Given the description of an element on the screen output the (x, y) to click on. 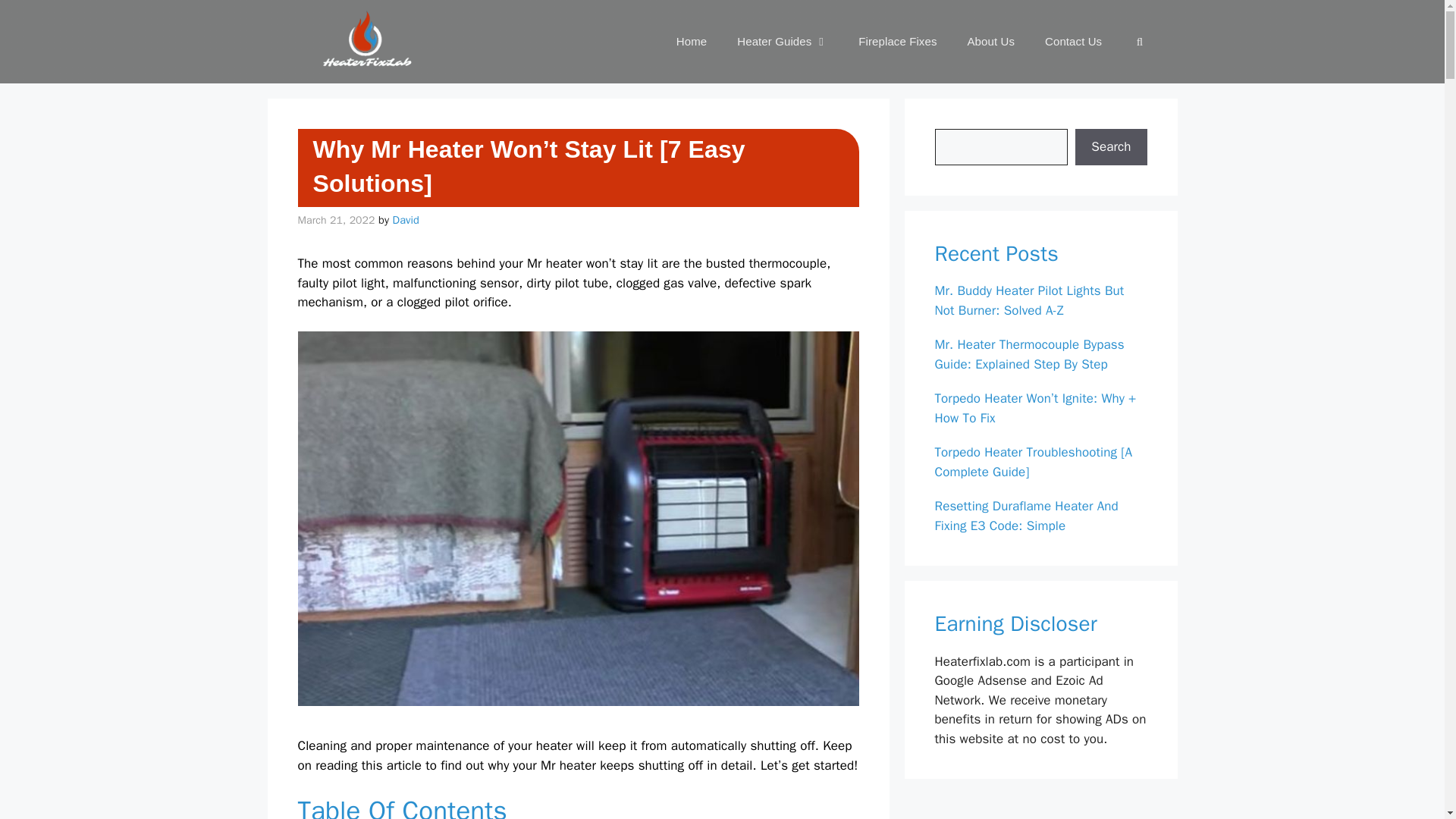
About Us (991, 41)
Fireplace Fixes (897, 41)
Home (691, 41)
Contact Us (1072, 41)
David (406, 219)
HeaterFixLab (361, 41)
Heater Guides (782, 41)
View all posts by David (406, 219)
